Given the description of an element on the screen output the (x, y) to click on. 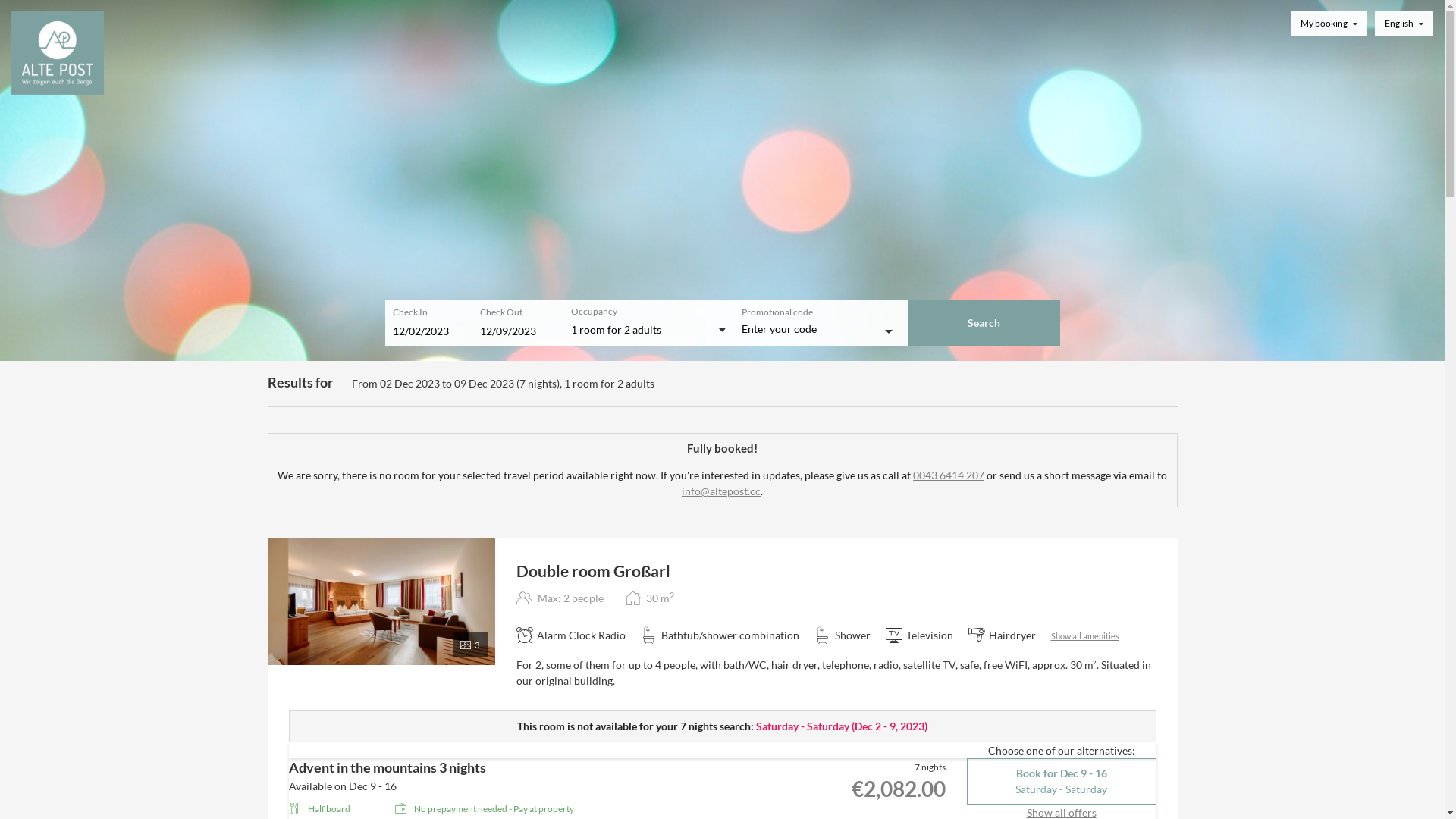
Search Element type: text (984, 322)
0043 6414 207 Element type: text (948, 474)
info@altepost.cc Element type: text (720, 490)
1 room for 2 adults Element type: text (646, 329)
Book for Dec 9 - 16
Saturday - Saturday Element type: text (1060, 781)
Show all amenities Element type: text (1085, 635)
